Given the description of an element on the screen output the (x, y) to click on. 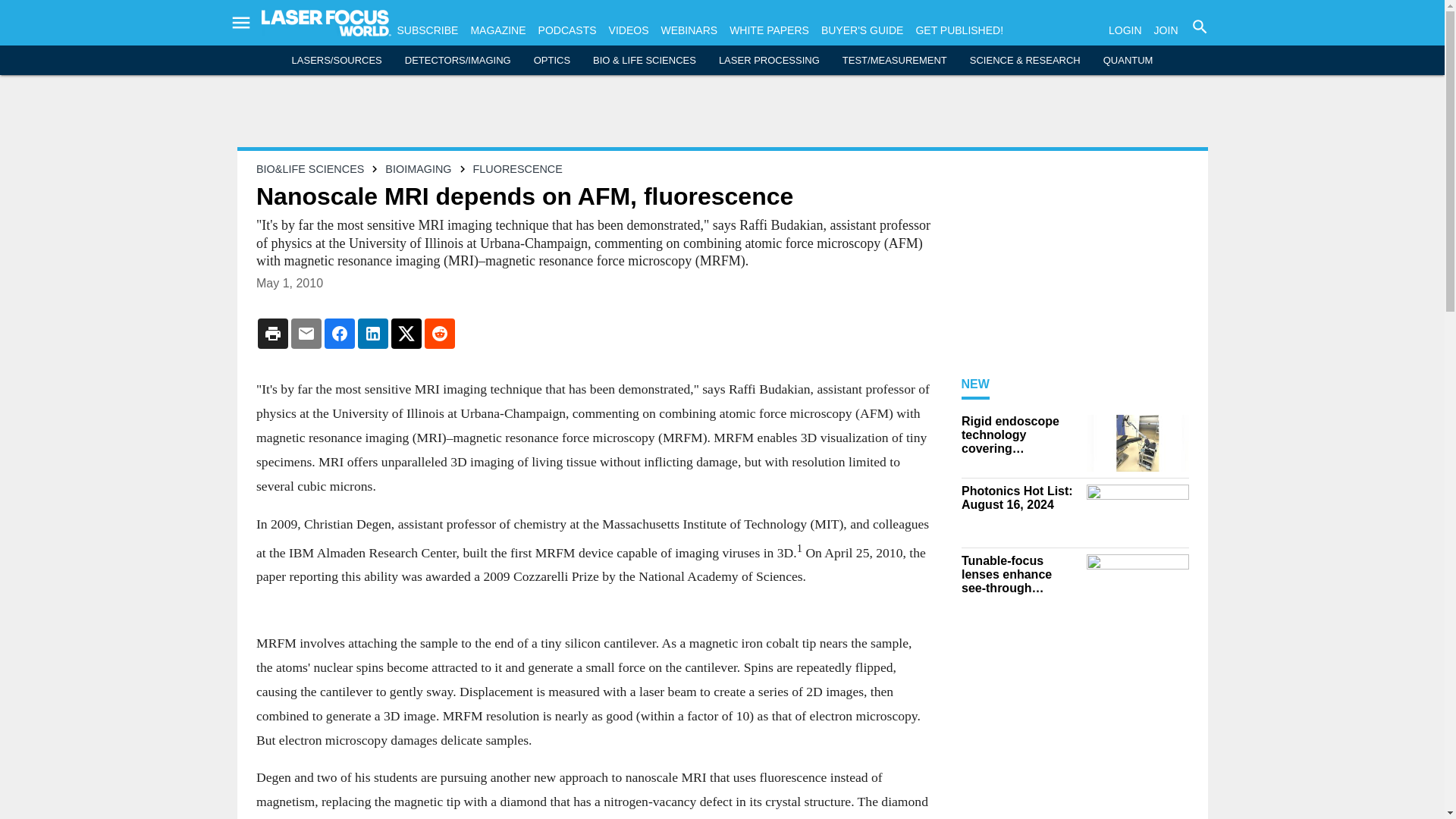
SUBSCRIBE (427, 30)
QUANTUM (1128, 60)
LOGIN (1124, 30)
PODCASTS (567, 30)
GET PUBLISHED! (959, 30)
MAGAZINE (497, 30)
BUYER'S GUIDE (861, 30)
LASER PROCESSING (769, 60)
OPTICS (552, 60)
VIDEOS (628, 30)
